Given the description of an element on the screen output the (x, y) to click on. 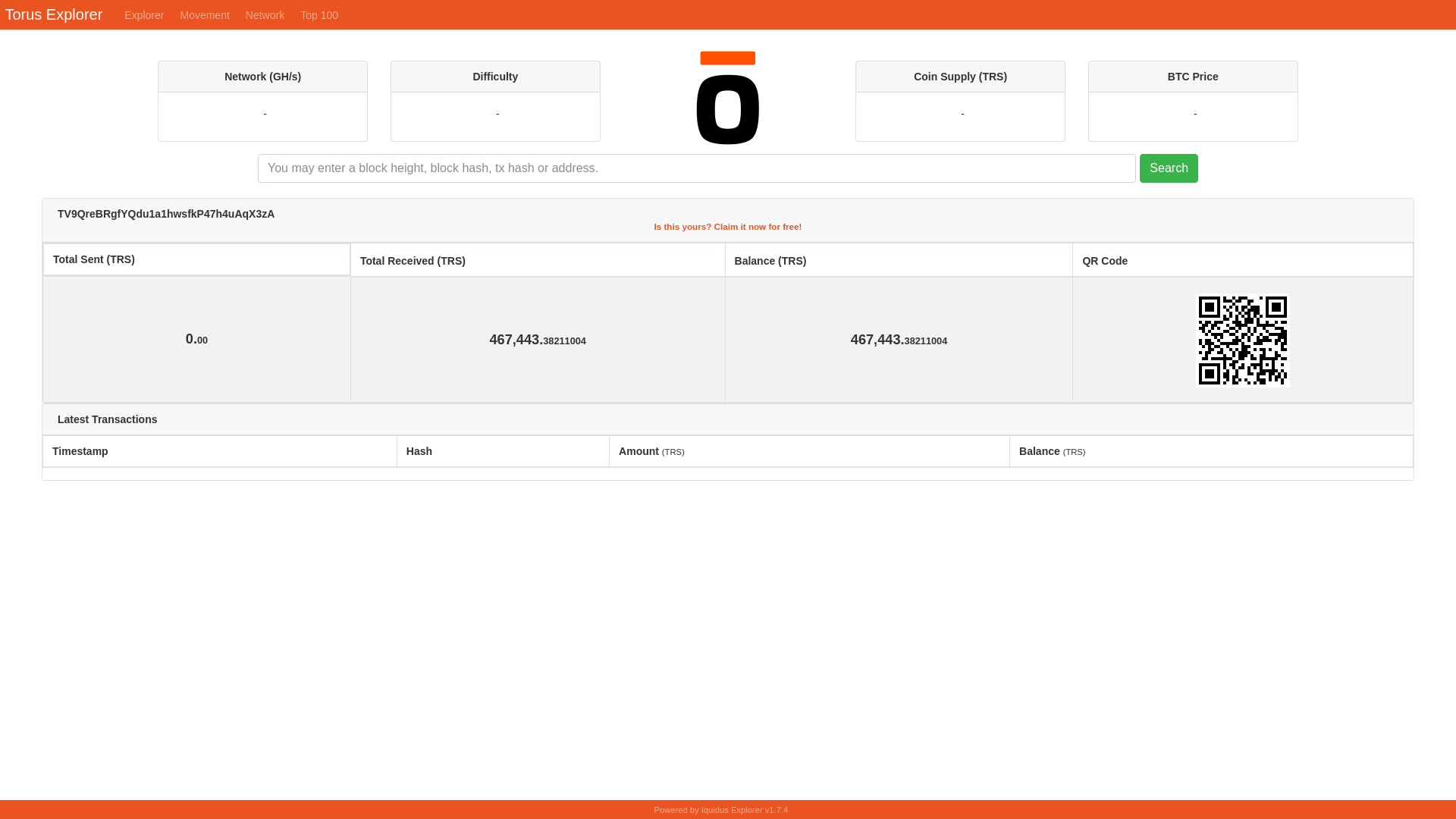
Powered by Iquidus Explorer v1.7.4 Element type: text (720, 809)
Top 100 Element type: text (317, 15)
Torus Explorer Element type: text (53, 14)
Movement Element type: text (202, 15)
Explorer Element type: text (141, 15)
Is this yours? Claim it now for free! Element type: text (727, 225)
Search Element type: text (1168, 167)
Network Element type: text (262, 15)
